Given the description of an element on the screen output the (x, y) to click on. 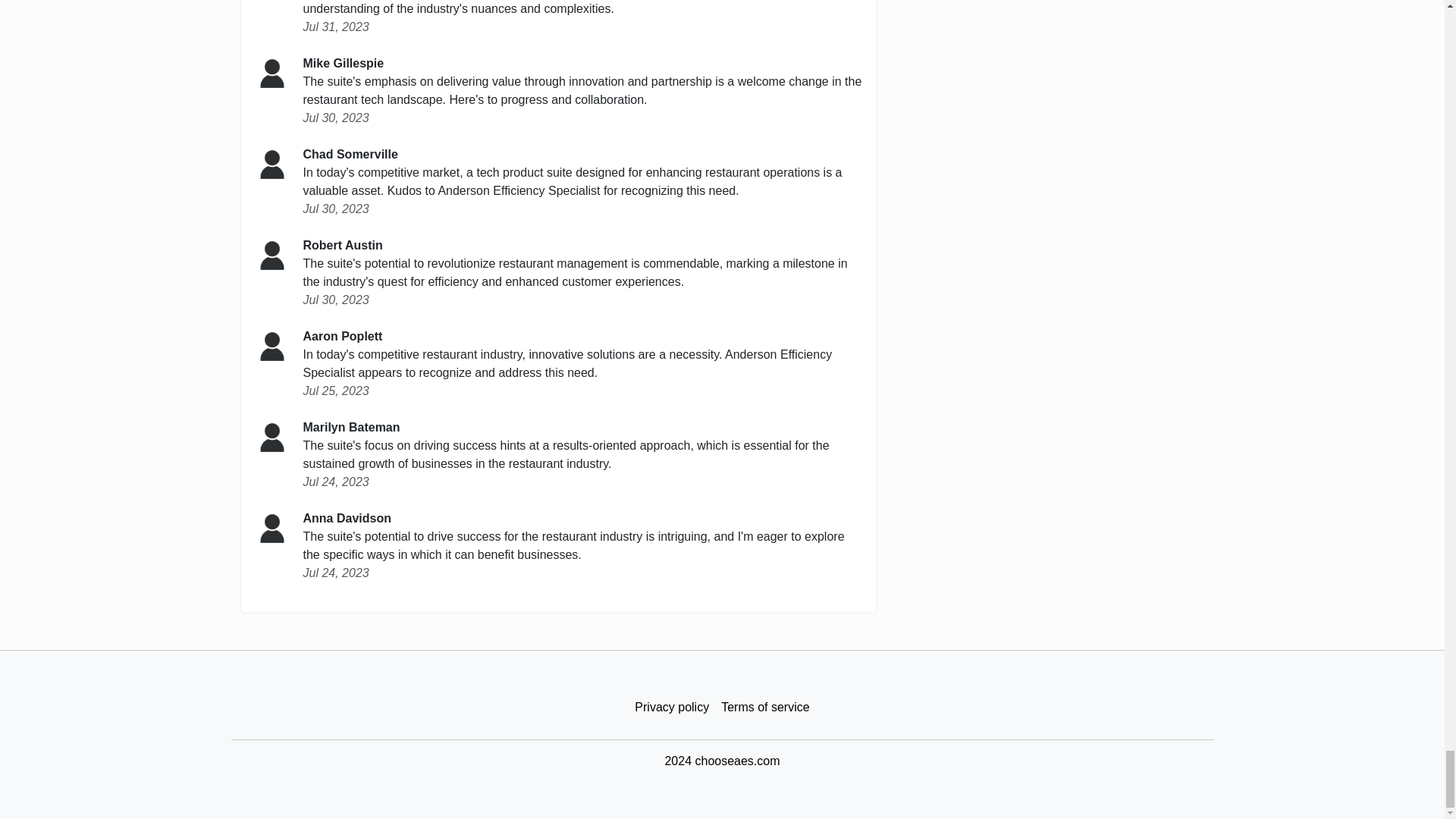
Privacy policy (671, 707)
Terms of service (764, 707)
